Given the description of an element on the screen output the (x, y) to click on. 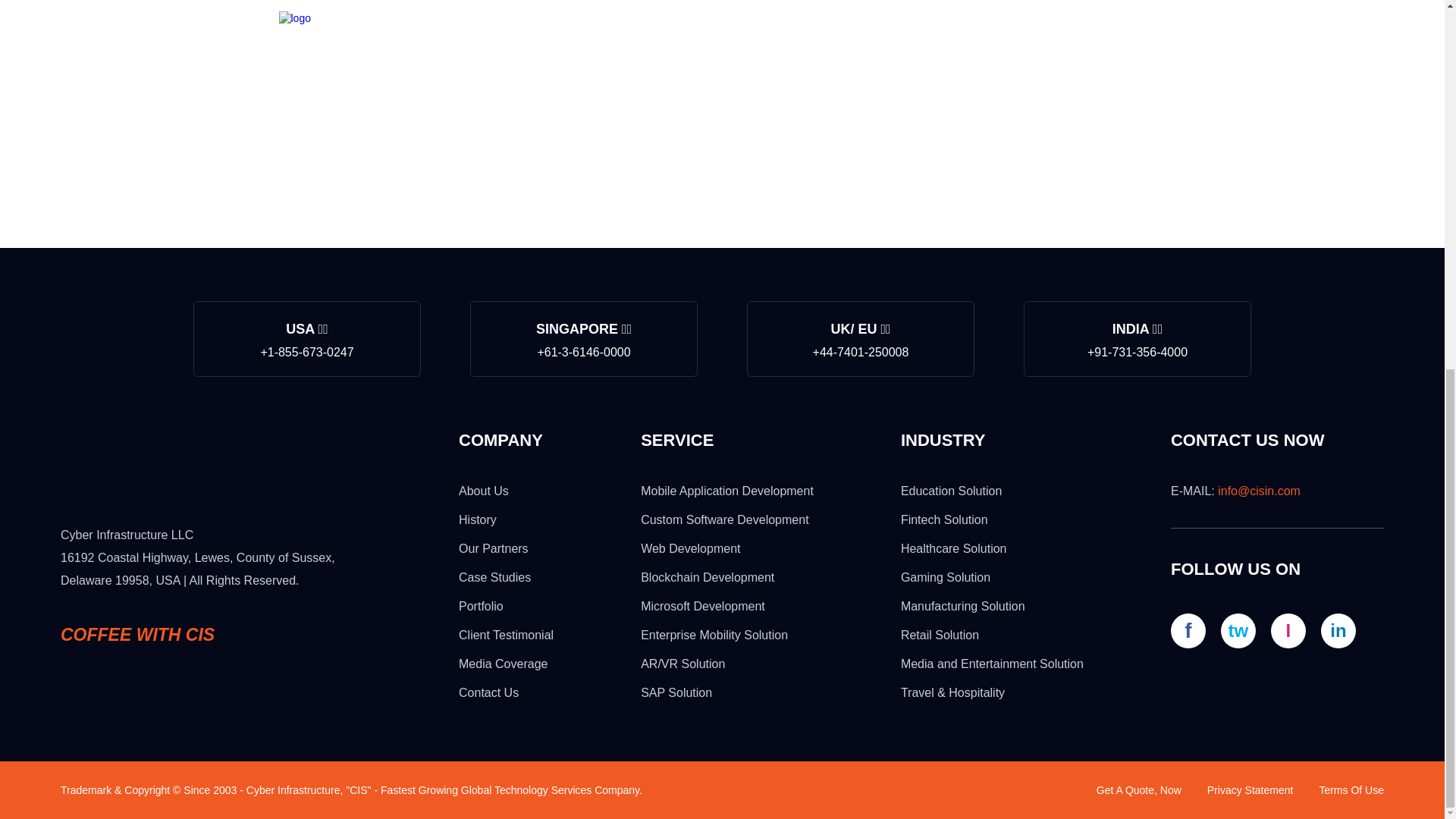
Mobile Application Development (726, 490)
Manufacturing Solution (963, 605)
Custom Software Development (724, 519)
Media and Entertainment Solution (992, 663)
Education Solution (951, 490)
Healthcare Solution (954, 548)
Web Development (689, 548)
Portfolio (480, 605)
Blockchain Development (707, 576)
About Us (483, 490)
I (1288, 630)
tw (1238, 630)
in (1337, 630)
Fintech Solution (944, 519)
Gaming Solution (945, 576)
